Given the description of an element on the screen output the (x, y) to click on. 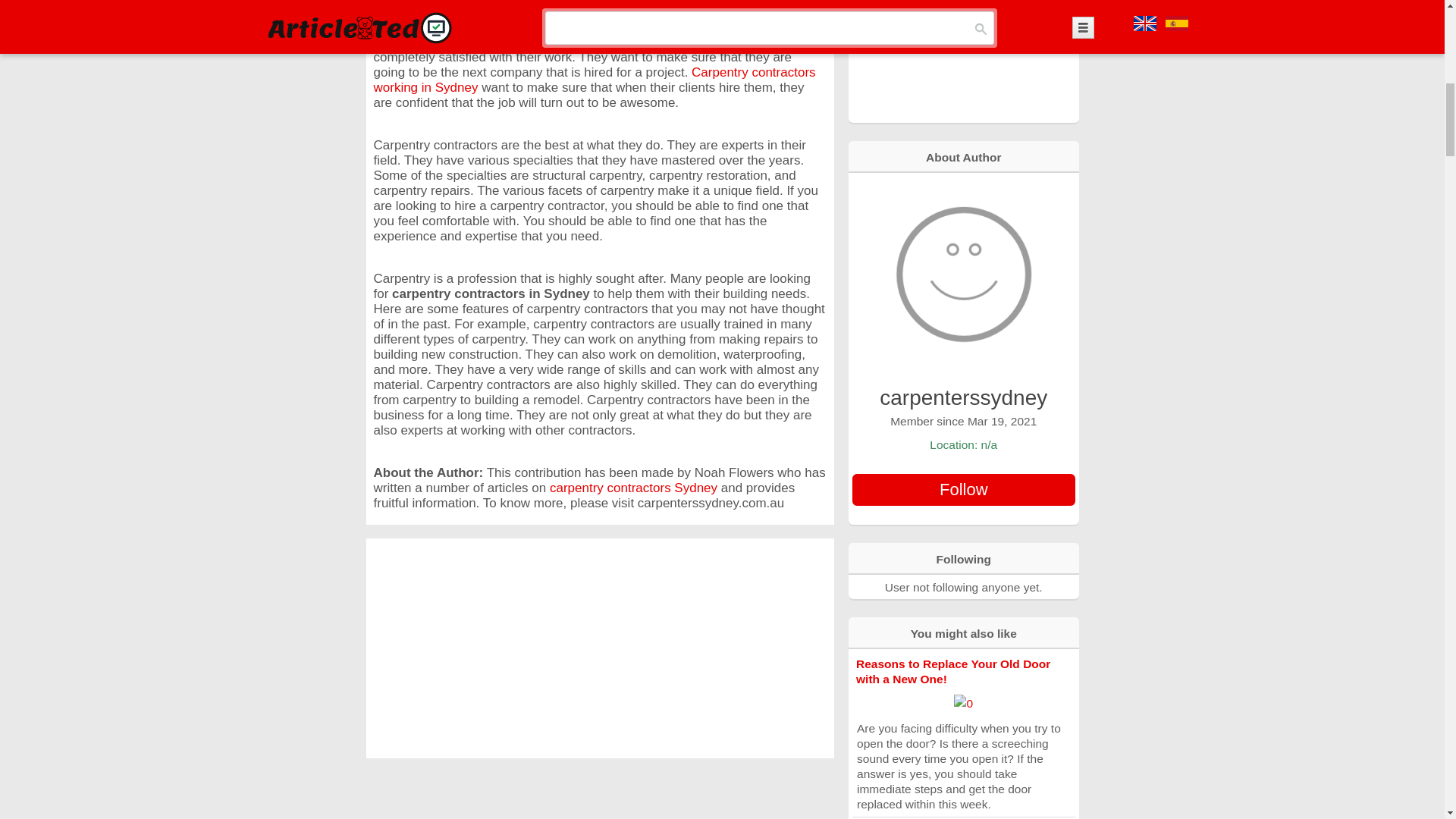
Follow (963, 490)
carpentry contractors Sydney (633, 487)
Carpentry contractors working in Sydney (593, 80)
Reasons to Replace Your Old Door with a New One! (952, 671)
